Given the description of an element on the screen output the (x, y) to click on. 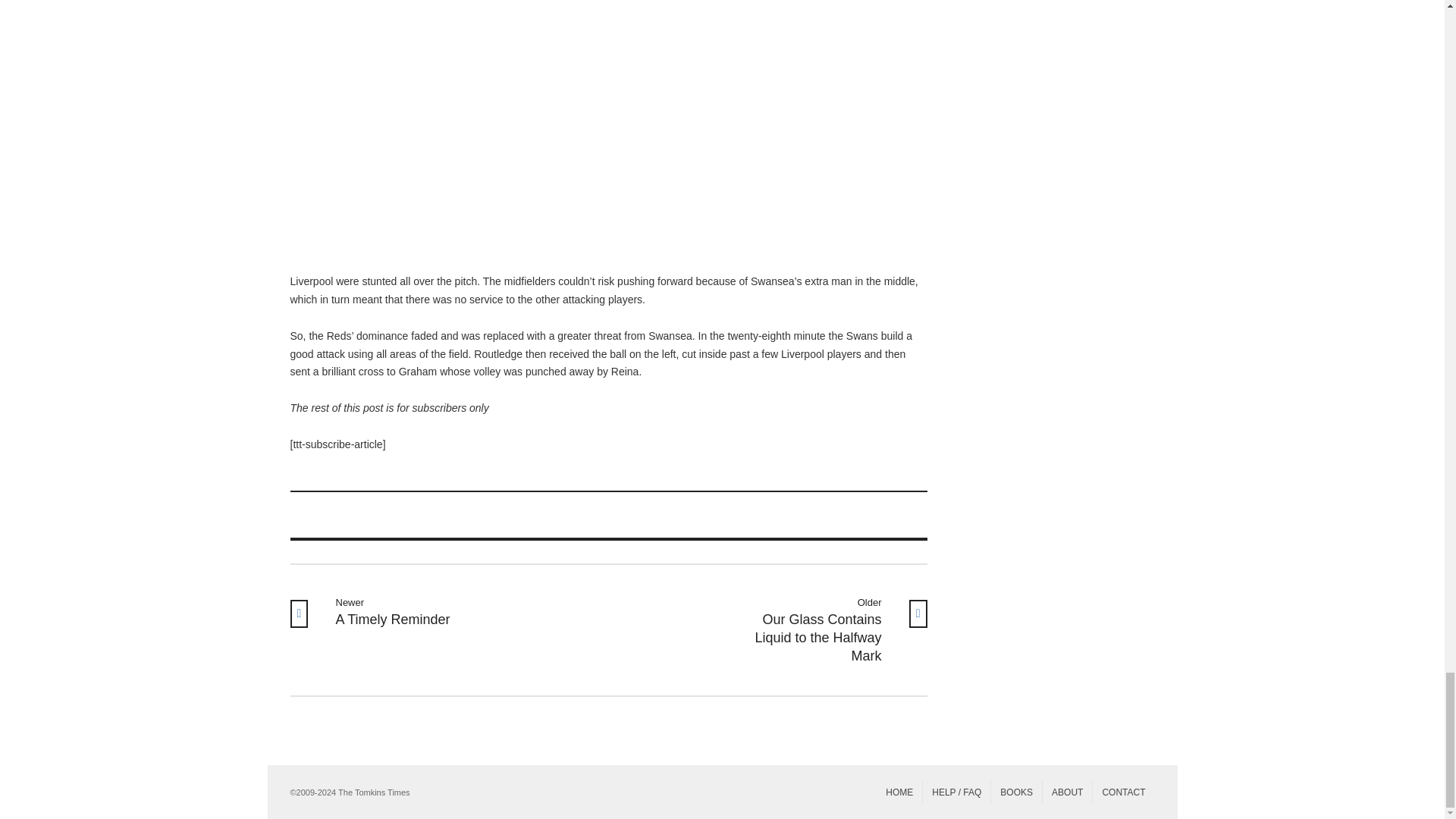
ABOUT (1067, 792)
HOME (898, 792)
BOOKS (395, 611)
CONTACT (1016, 792)
